Given the description of an element on the screen output the (x, y) to click on. 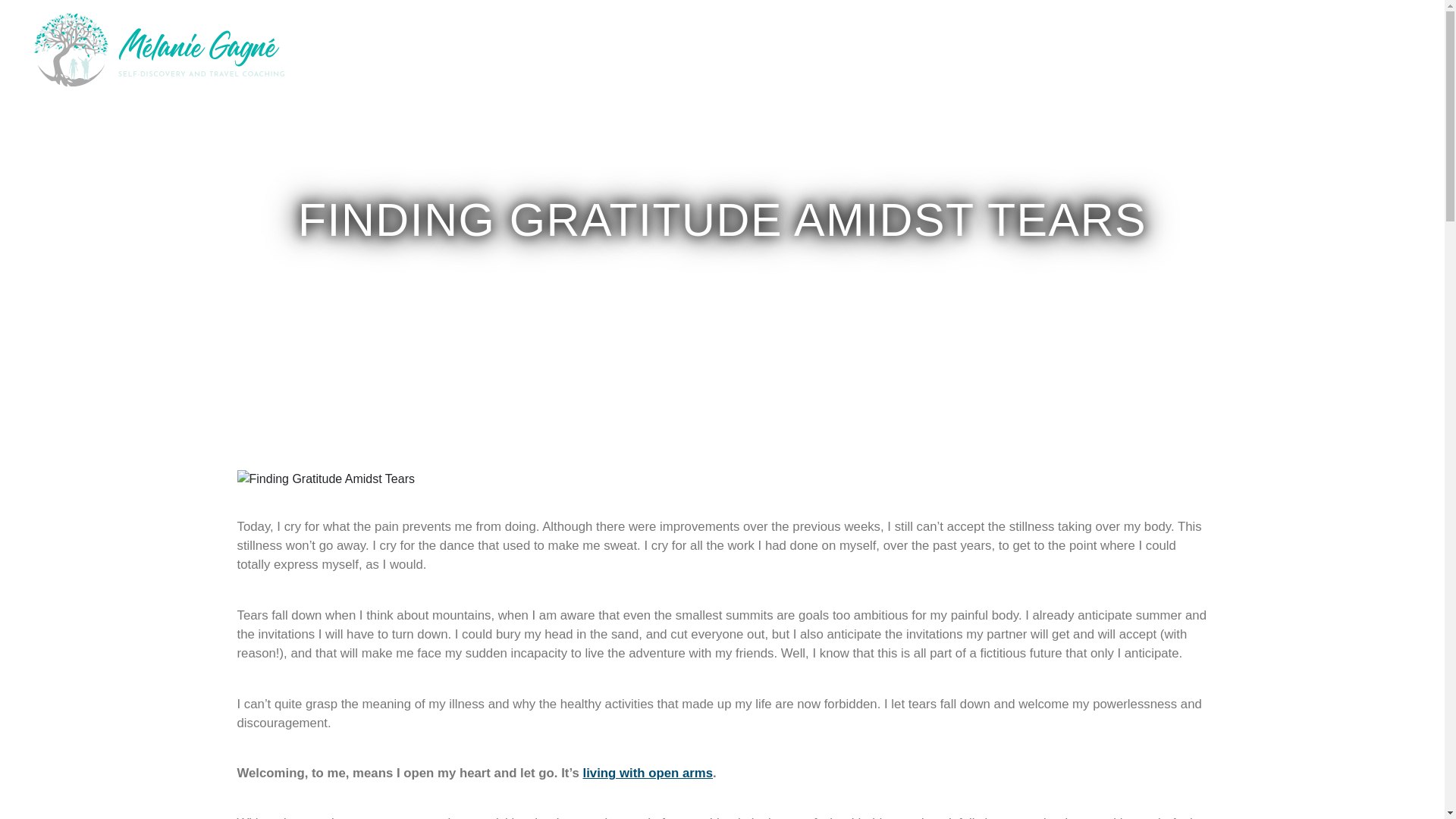
ABOUT (929, 48)
Contact (1286, 48)
HOME (866, 48)
Trip to India (1013, 48)
Home (866, 48)
TRIP TO INDIA (1013, 48)
CONTACT (1286, 48)
PRIVATE TRAVEL COACHING (1156, 48)
living with open arms (647, 772)
Private Travel Coaching (1156, 48)
